Given the description of an element on the screen output the (x, y) to click on. 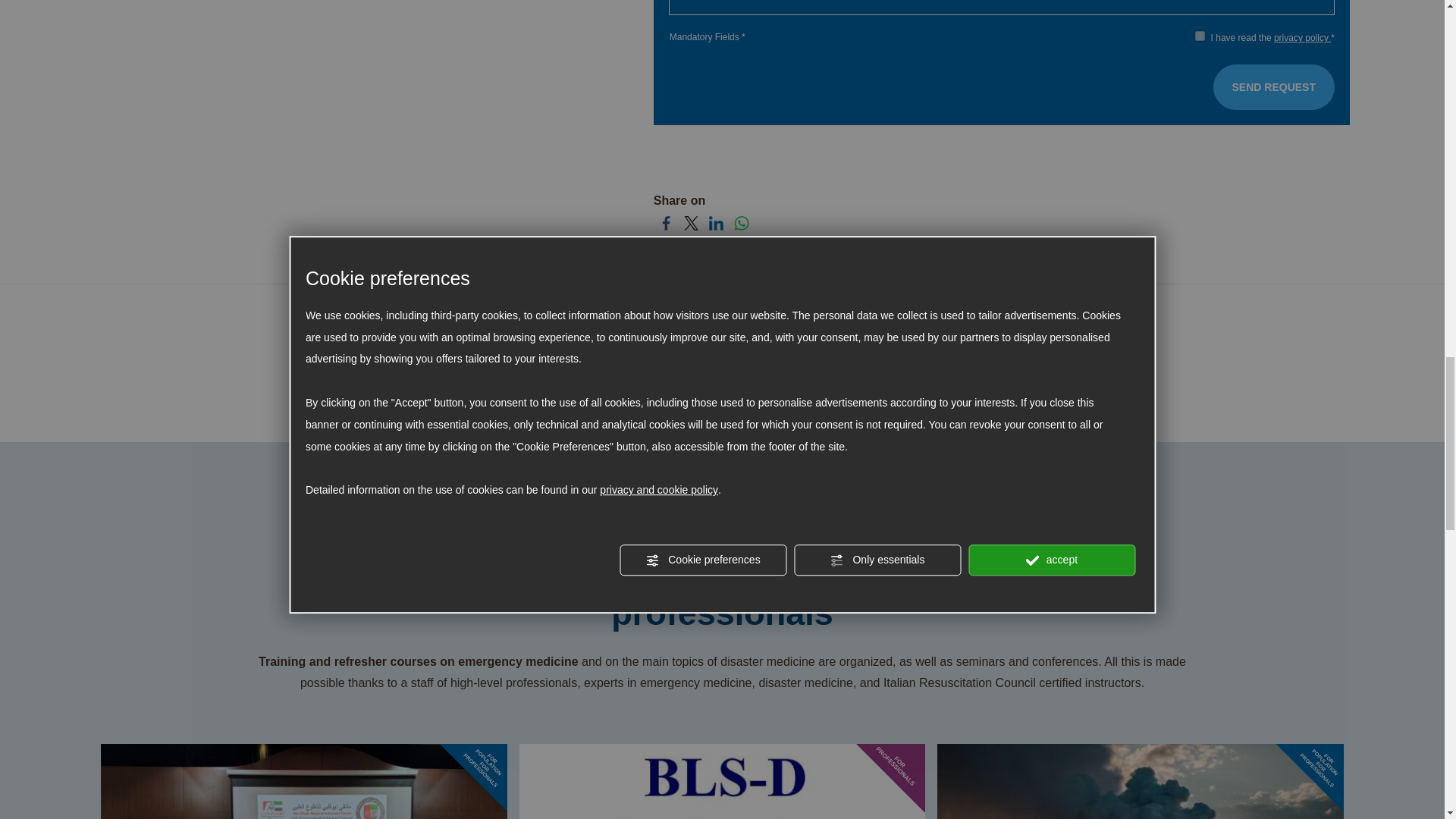
1 (1200, 35)
privacy policy (1302, 37)
Send request (1273, 86)
